Given the description of an element on the screen output the (x, y) to click on. 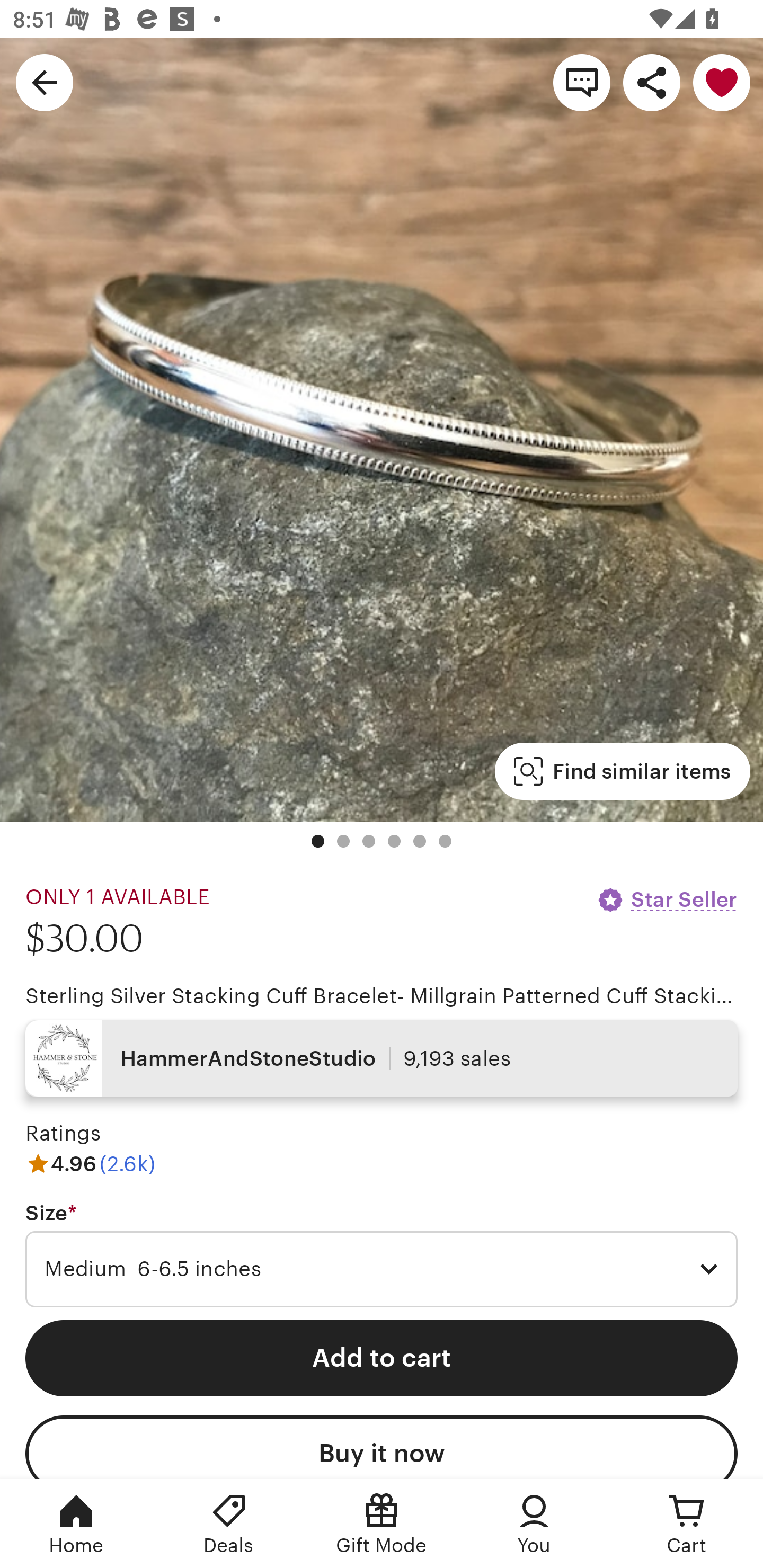
Navigate up (44, 81)
Contact shop (581, 81)
Share (651, 81)
Find similar items (622, 771)
Star Seller (666, 899)
HammerAndStoneStudio 9,193 sales (381, 1058)
Ratings (62, 1133)
4.96 (2.6k) (90, 1163)
Size * Required Medium  6-6.5 inches (381, 1254)
Medium  6-6.5 inches (381, 1268)
Add to cart (381, 1358)
Buy it now (381, 1446)
Deals (228, 1523)
Gift Mode (381, 1523)
You (533, 1523)
Cart (686, 1523)
